Given the description of an element on the screen output the (x, y) to click on. 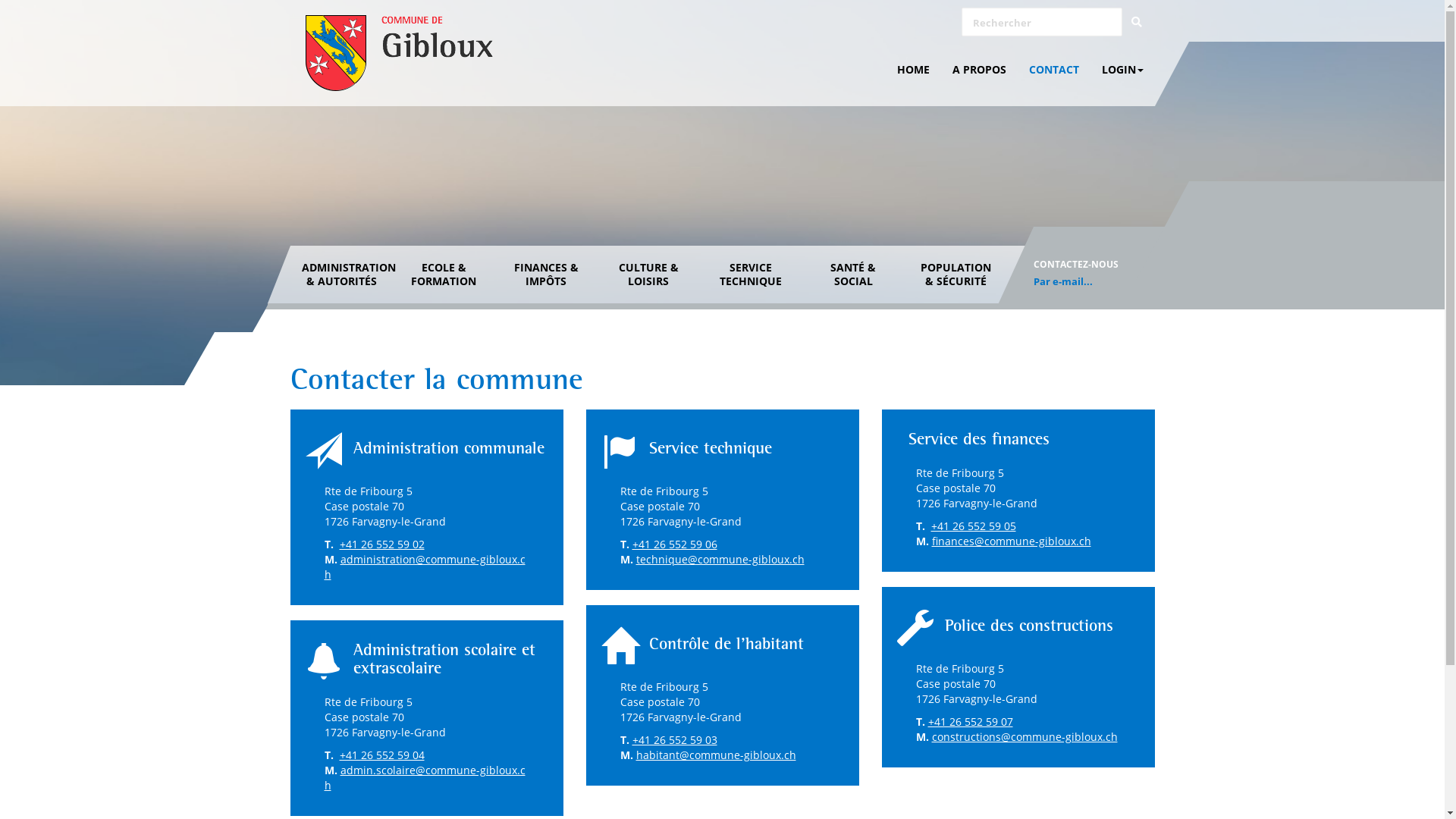
+41 26 552 59 07 Element type: text (970, 721)
Par e-mail... Element type: text (1062, 281)
+41 26 552 59 03 Element type: text (674, 739)
A PROPOS Element type: text (978, 69)
+41 26 552 59 04 Element type: text (381, 754)
administration@commune-gibloux.ch Element type: text (424, 566)
Rechercher Element type: text (1136, 21)
finances@commune-gibloux.ch Element type: text (1010, 540)
+41 26 552 59 05 Element type: text (973, 525)
SERVICE TECHNIQUE Element type: text (750, 274)
habitant@commune-gibloux.ch Element type: text (715, 754)
technique@commune-gibloux.ch Element type: text (719, 559)
admin.scolaire@commune-gibloux.ch Element type: text (424, 777)
+41 26 552 59 06 Element type: text (674, 543)
+41 26 552 59 02 Element type: text (381, 543)
HOME Element type: text (913, 69)
CULTURE & LOISIRS Element type: text (648, 274)
CONTACT Element type: text (1053, 69)
ECOLE & FORMATION Element type: text (443, 274)
constructions@commune-gibloux.ch Element type: text (1024, 736)
LOGIN Element type: text (1122, 69)
